Given the description of an element on the screen output the (x, y) to click on. 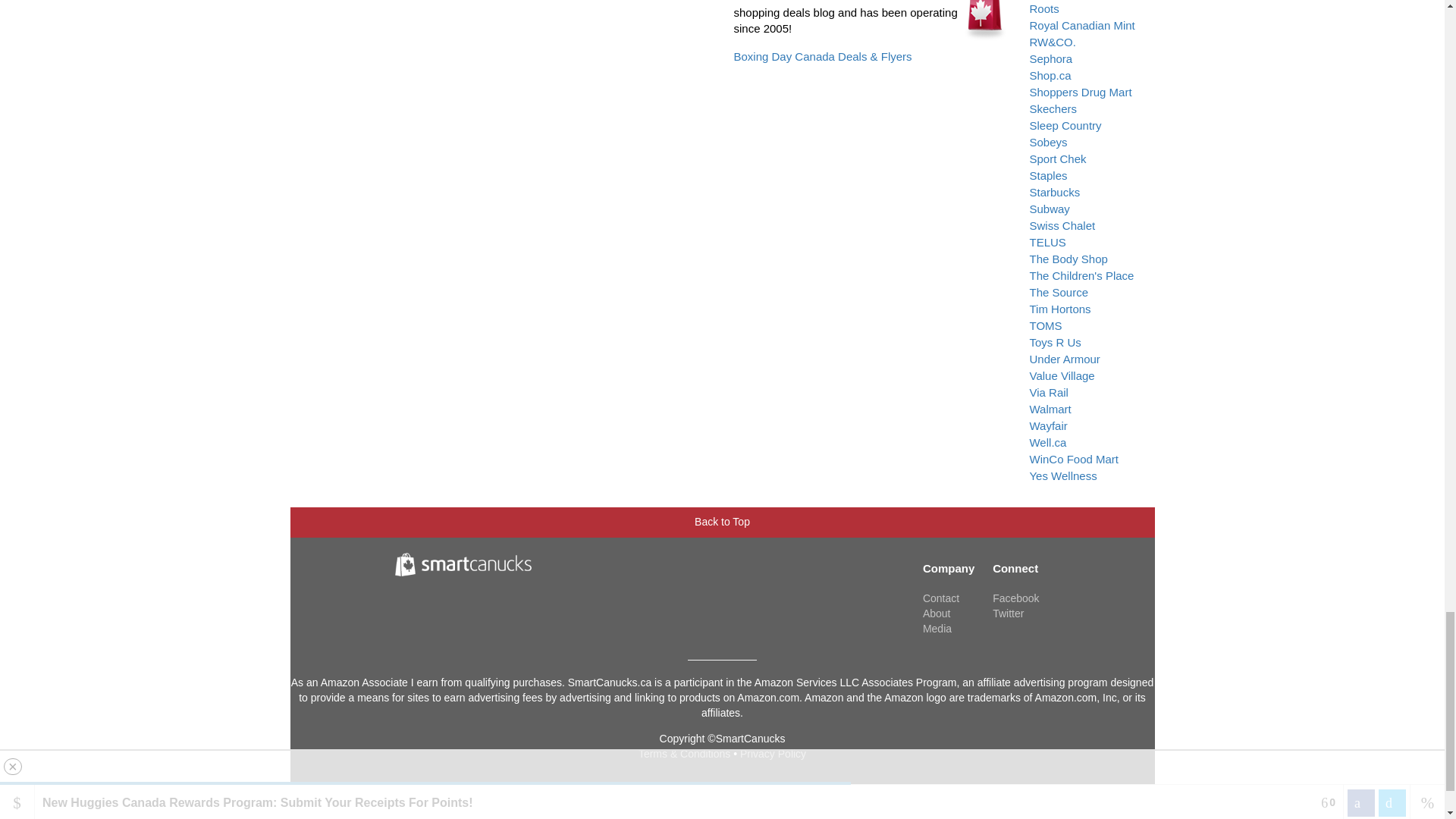
Back to Top (721, 517)
